Given the description of an element on the screen output the (x, y) to click on. 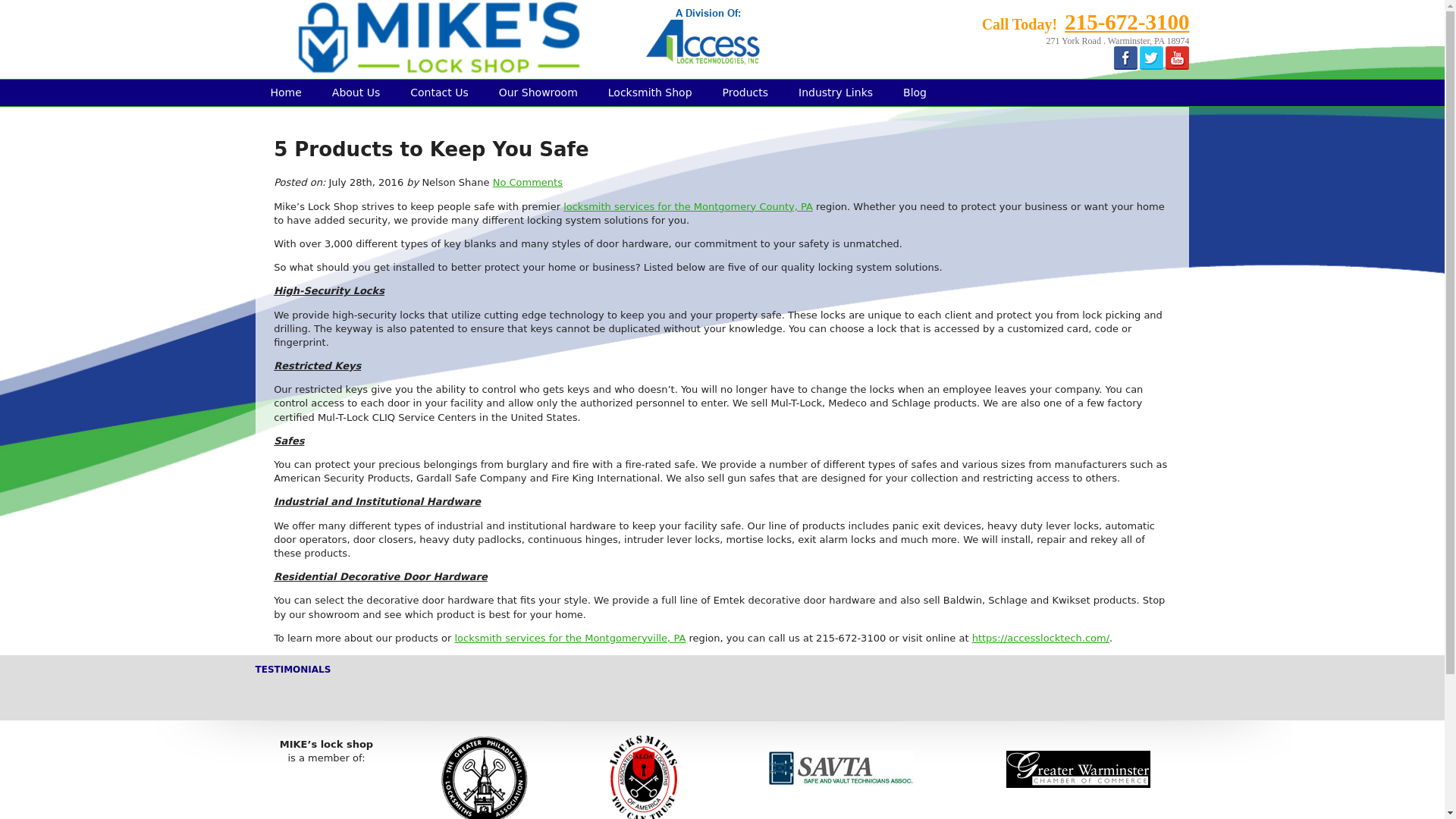
215-672-3100 (1126, 21)
Contact Us (438, 91)
No Comments (527, 182)
Locksmith Shop (649, 91)
About Us (355, 91)
locksmith services for the Montgomery County, PA (687, 206)
Industry Links (835, 91)
Products (745, 91)
Our Showroom (537, 91)
locksmith services for the Montgomeryville, PA (569, 637)
Home (284, 91)
Blog (915, 91)
